Given the description of an element on the screen output the (x, y) to click on. 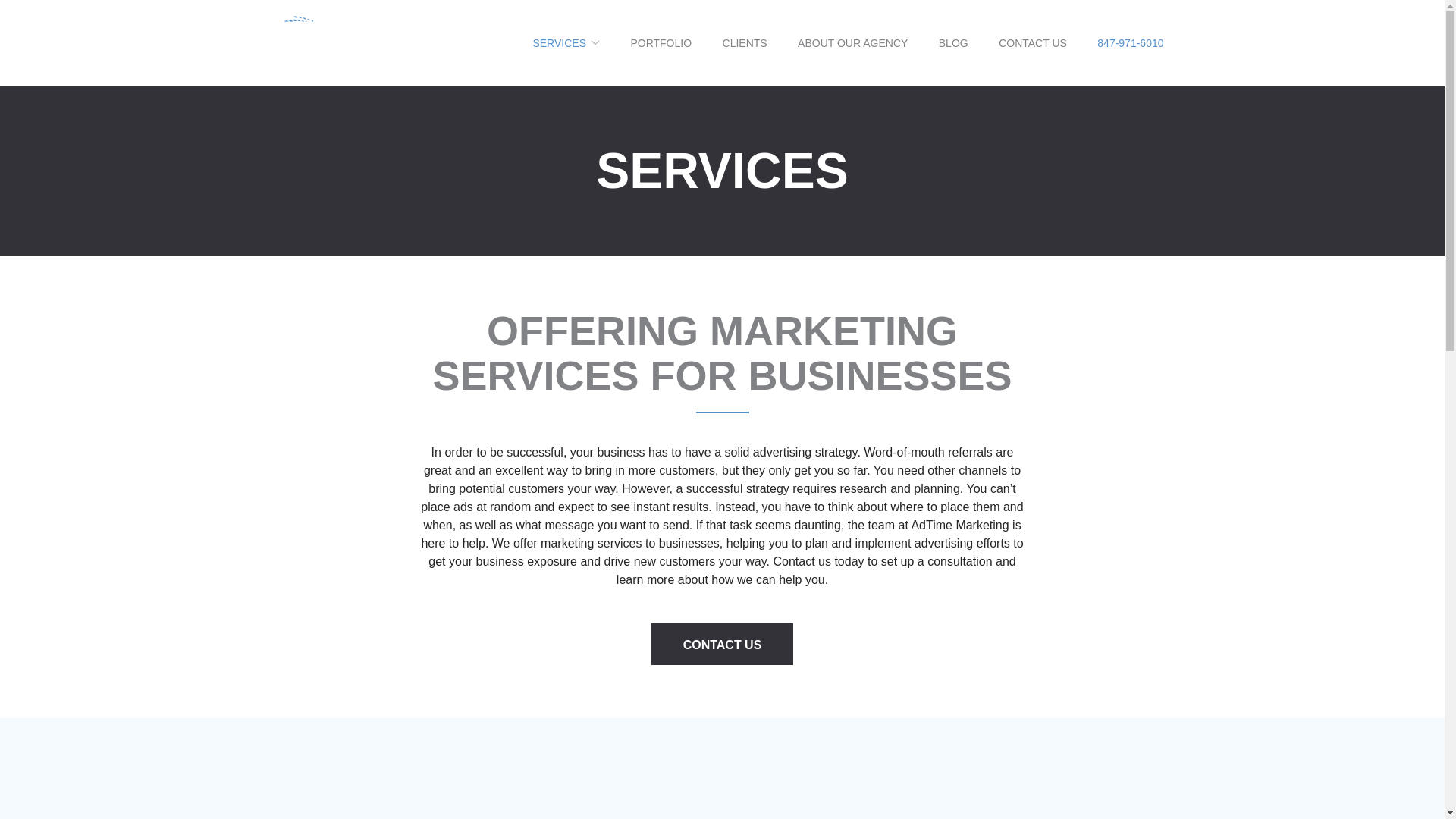
CLIENTS (744, 42)
CONTACT US (1032, 42)
847-971-6010 (1130, 42)
PORTFOLIO (660, 42)
SERVICES (565, 42)
BLOG (953, 42)
ABOUT OUR AGENCY (852, 42)
CONTACT US (721, 644)
